Given the description of an element on the screen output the (x, y) to click on. 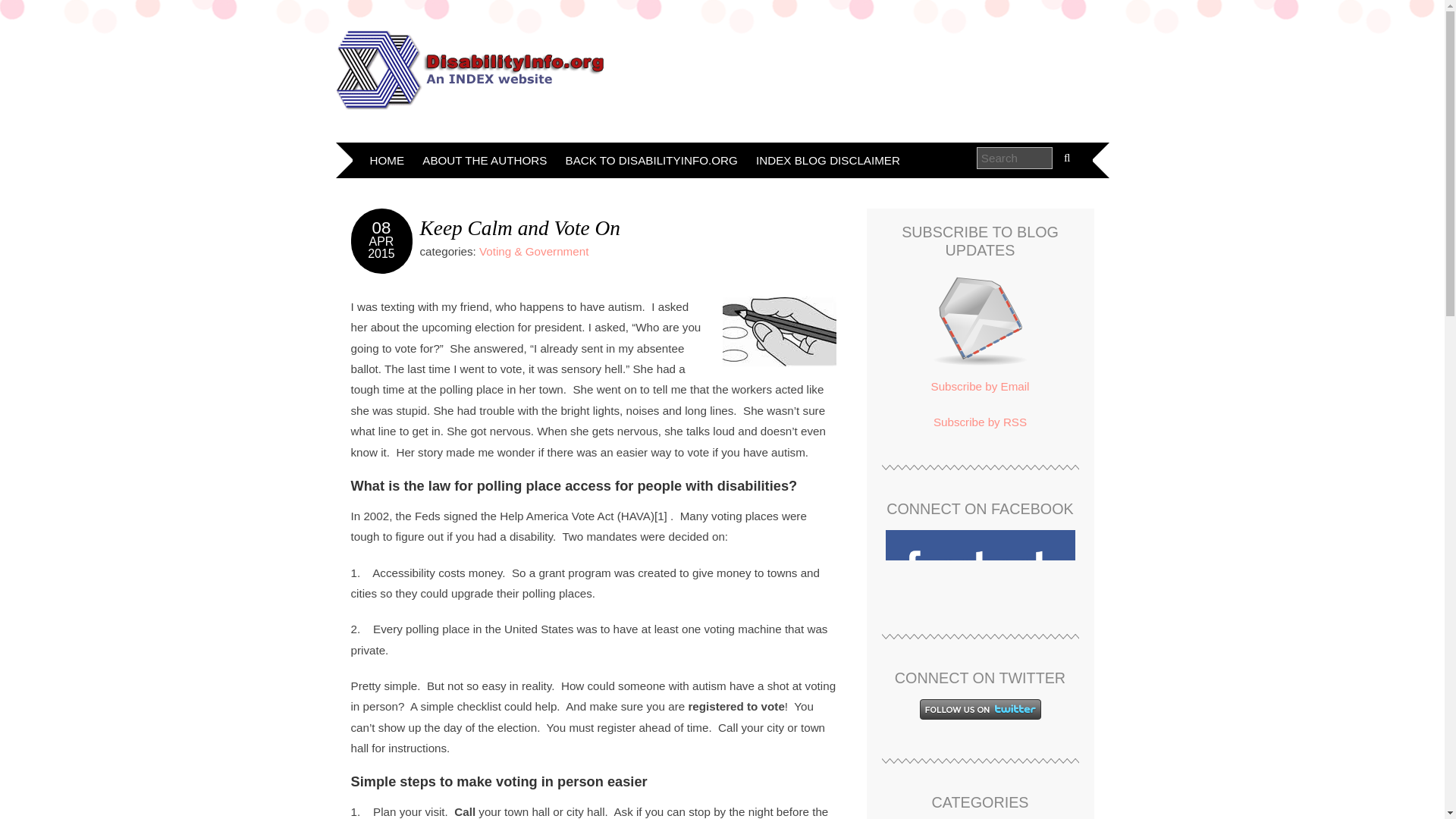
Keep Calm and Vote On (520, 228)
Subscribe by Email (980, 386)
HOME (387, 160)
Subscribe by Email (979, 319)
Subscribe by RSS (979, 421)
BACK TO DISABILITYINFO.ORG (651, 160)
INDEX (478, 69)
08 (381, 227)
INDEX BLOG DISCLAIMER (827, 160)
Connect with us on our Facebook Page (980, 565)
ABOUT THE AUTHORS (484, 160)
